Given the description of an element on the screen output the (x, y) to click on. 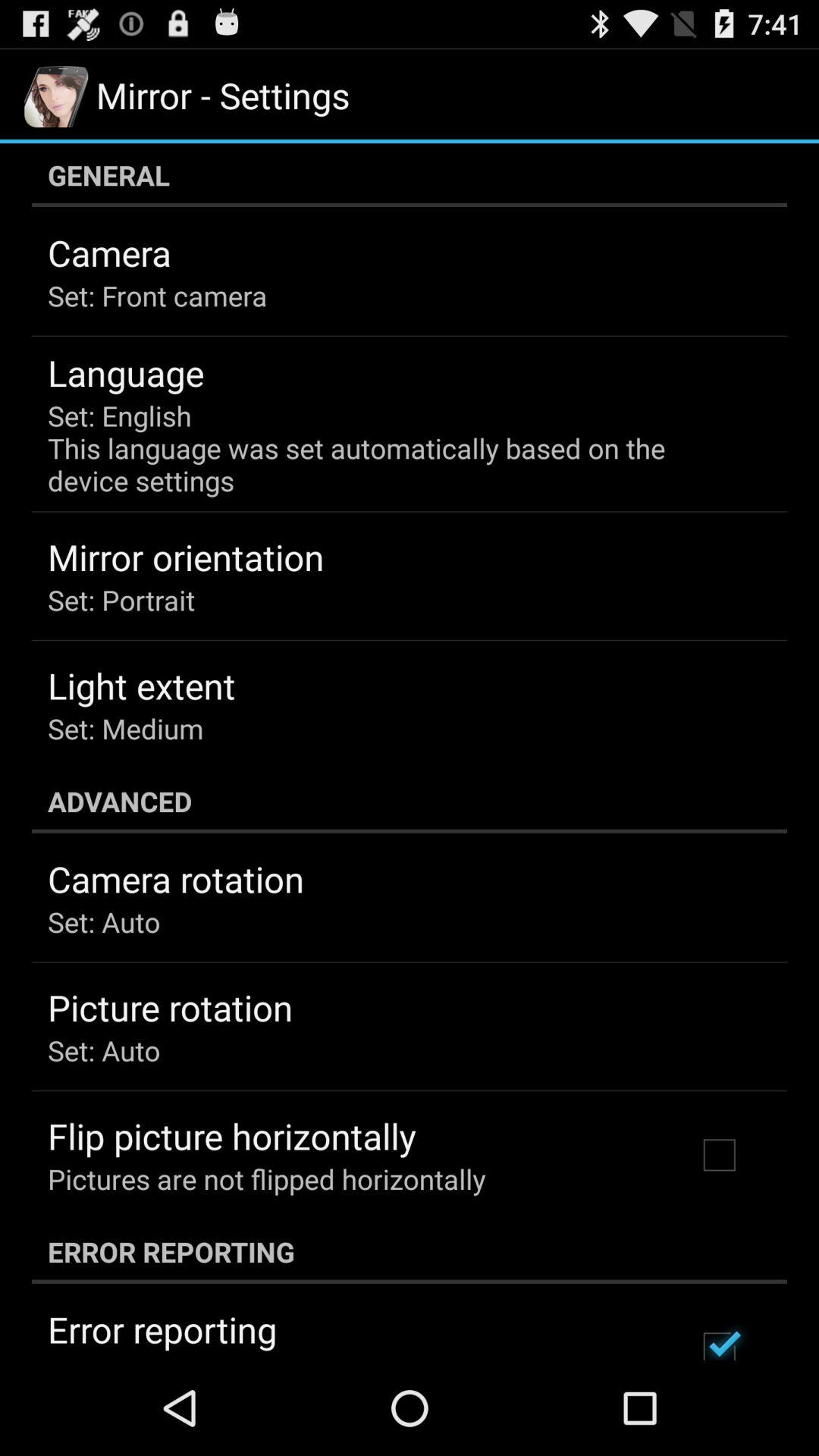
turn on app below set: auto app (231, 1135)
